Given the description of an element on the screen output the (x, y) to click on. 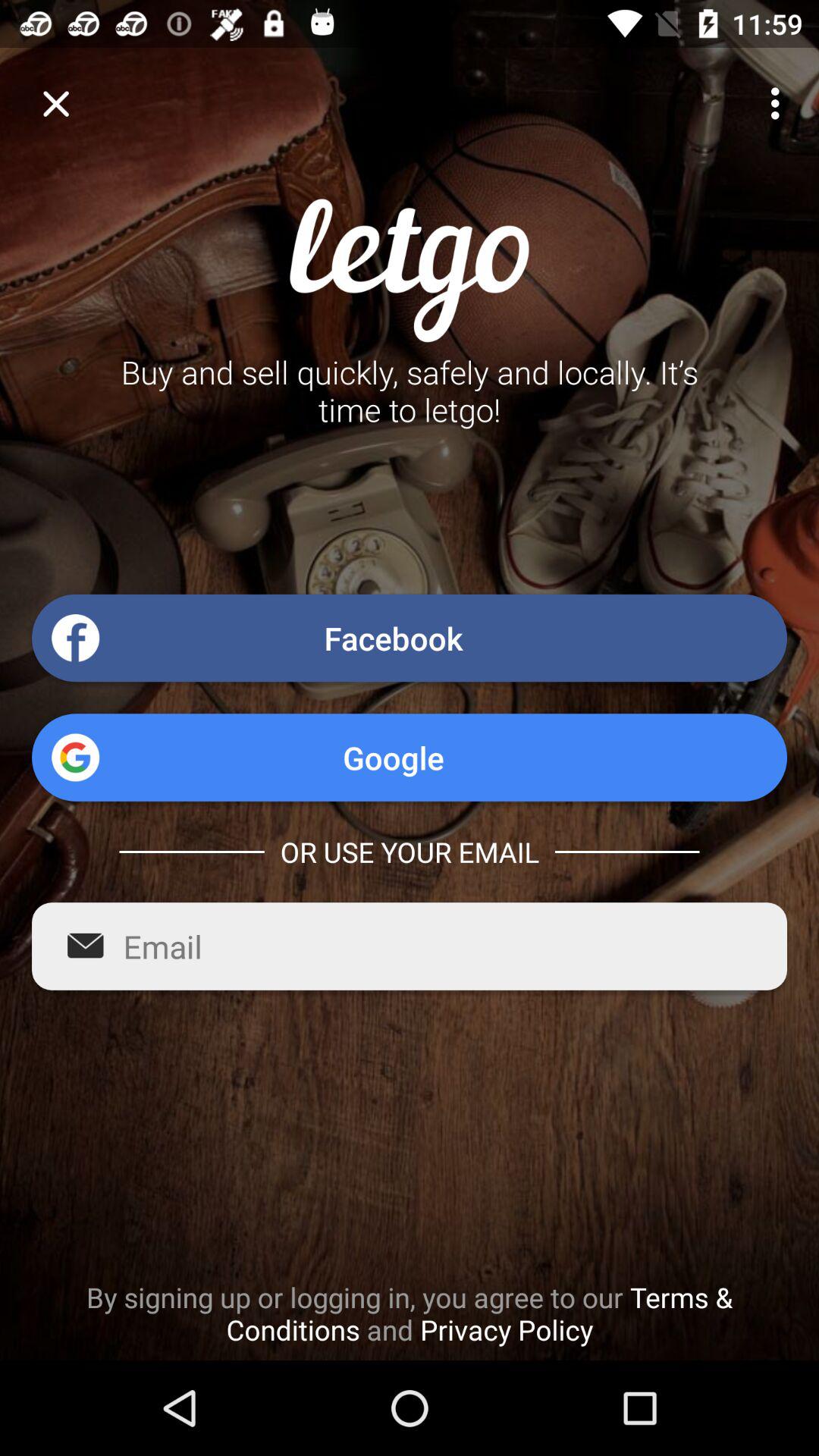
turn off the icon above the buy and sell (55, 103)
